Given the description of an element on the screen output the (x, y) to click on. 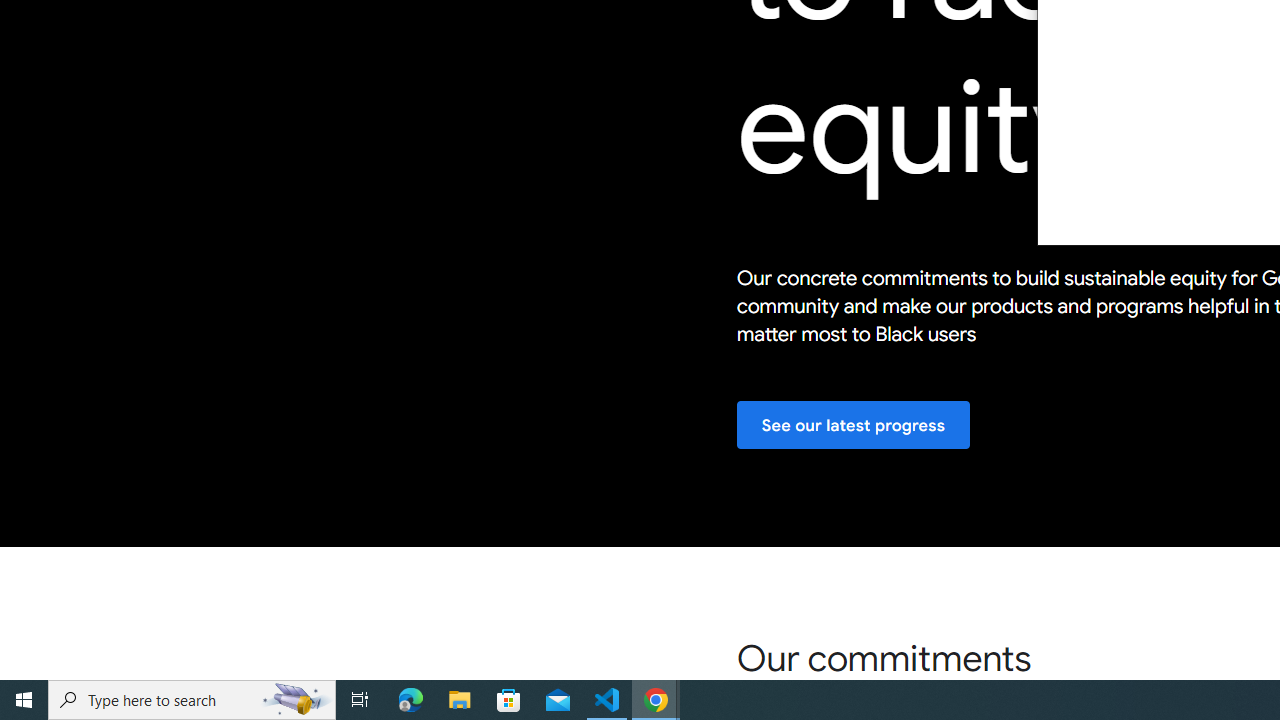
Google Chrome - 2 running windows (656, 699)
Microsoft Edge (411, 699)
Type here to search (191, 699)
File Explorer (460, 699)
Task View (359, 699)
See our latest progress (853, 425)
Visual Studio Code - 1 running window (607, 699)
Start (24, 699)
Search highlights icon opens search home window (295, 699)
Microsoft Store (509, 699)
